Given the description of an element on the screen output the (x, y) to click on. 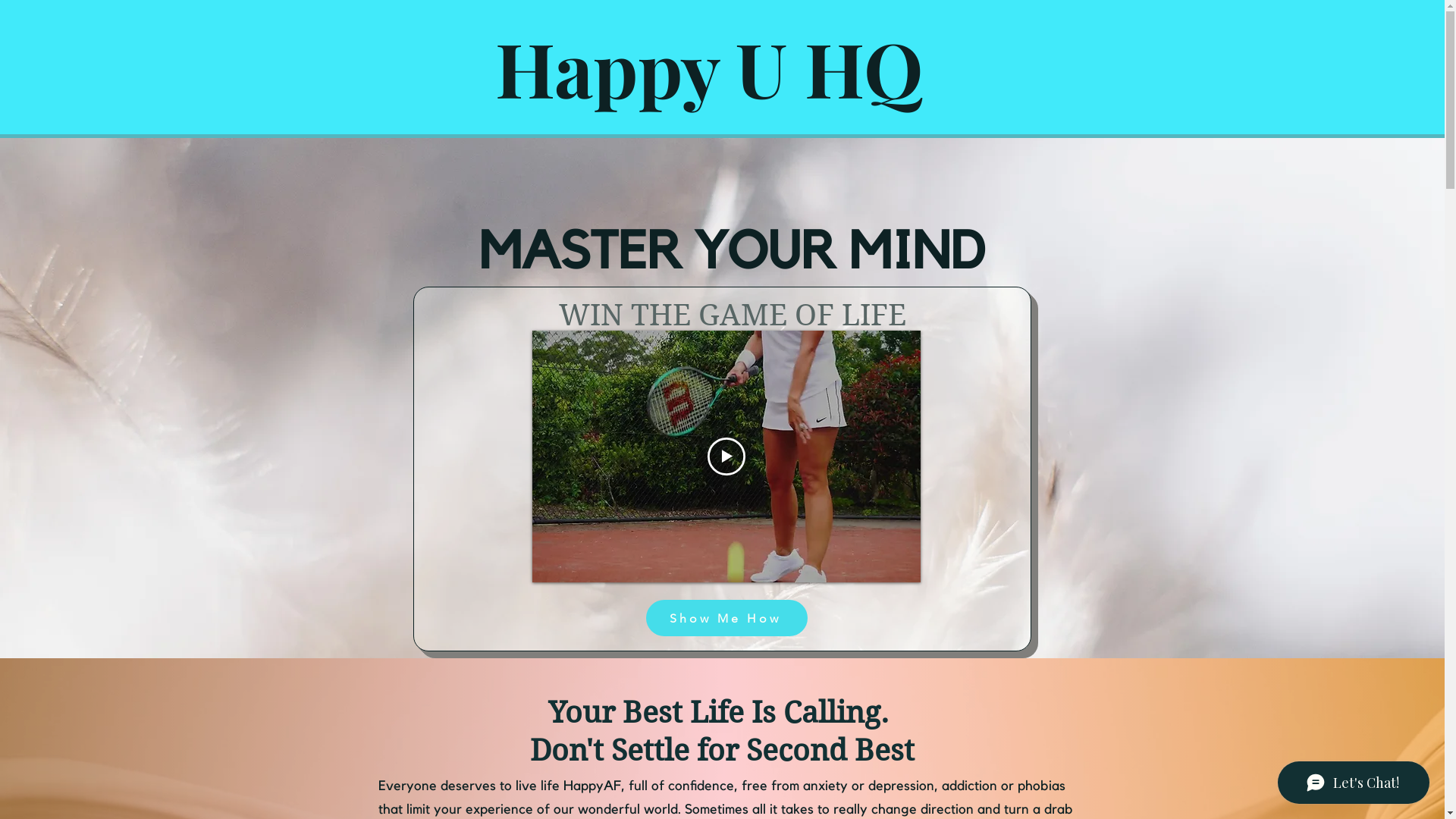
Show Me How Element type: text (726, 617)
